Given the description of an element on the screen output the (x, y) to click on. 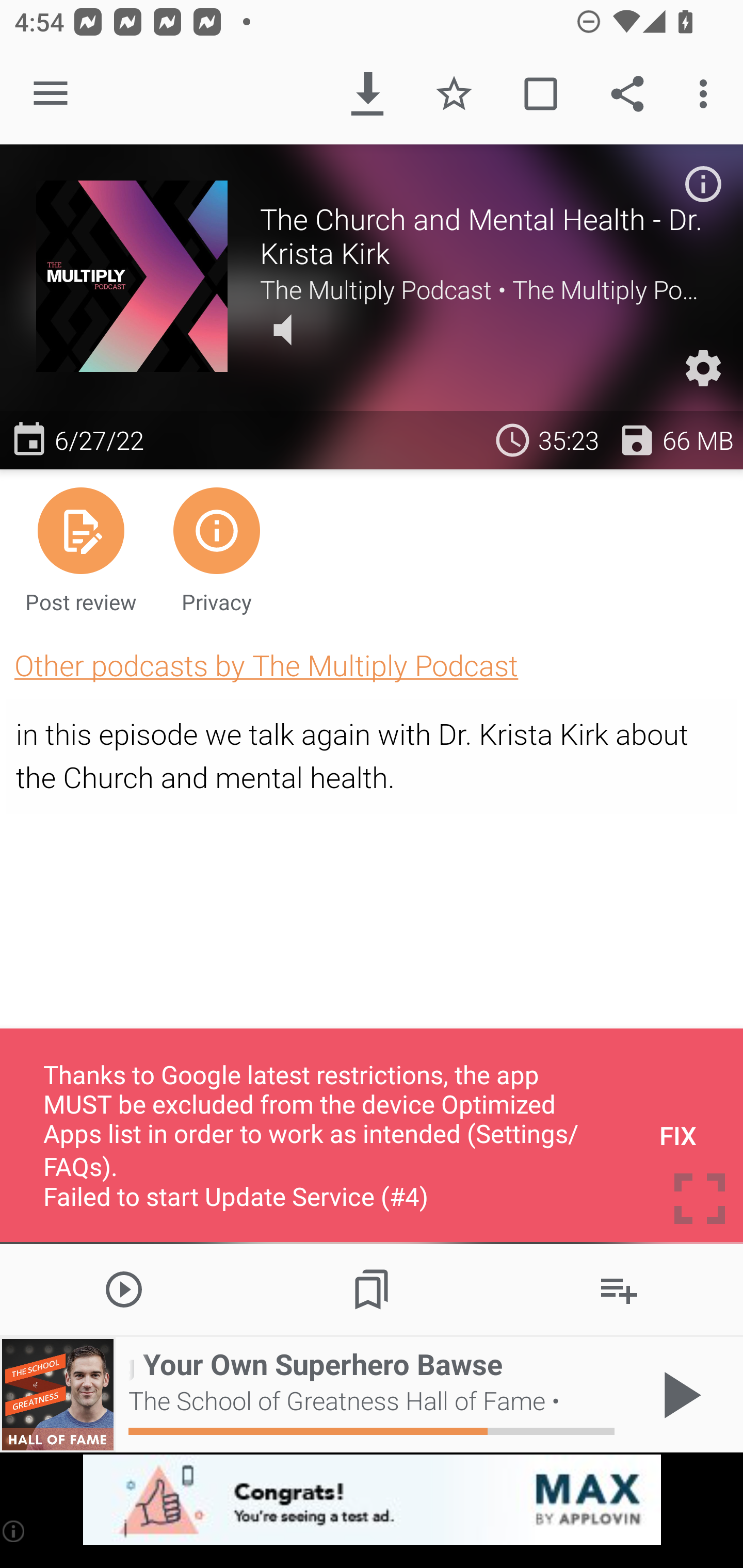
Open navigation sidebar (50, 93)
Download (366, 93)
Favorite (453, 93)
Mark played / unplayed (540, 93)
Share (626, 93)
More options (706, 93)
Podcast description (703, 184)
The Church and Mental Health - Dr. Krista Kirk (483, 235)
Custom Settings (703, 368)
Post review (81, 549)
Privacy (216, 549)
Other podcasts by The Multiply Podcast (266, 665)
FIX (677, 1135)
Toggle full screen mode (699, 1198)
Play (123, 1288)
Chapters / Bookmarks (371, 1288)
Add to Playlist (619, 1288)
Play / Pause (677, 1394)
app-monetization (371, 1500)
(i) (14, 1531)
